Given the description of an element on the screen output the (x, y) to click on. 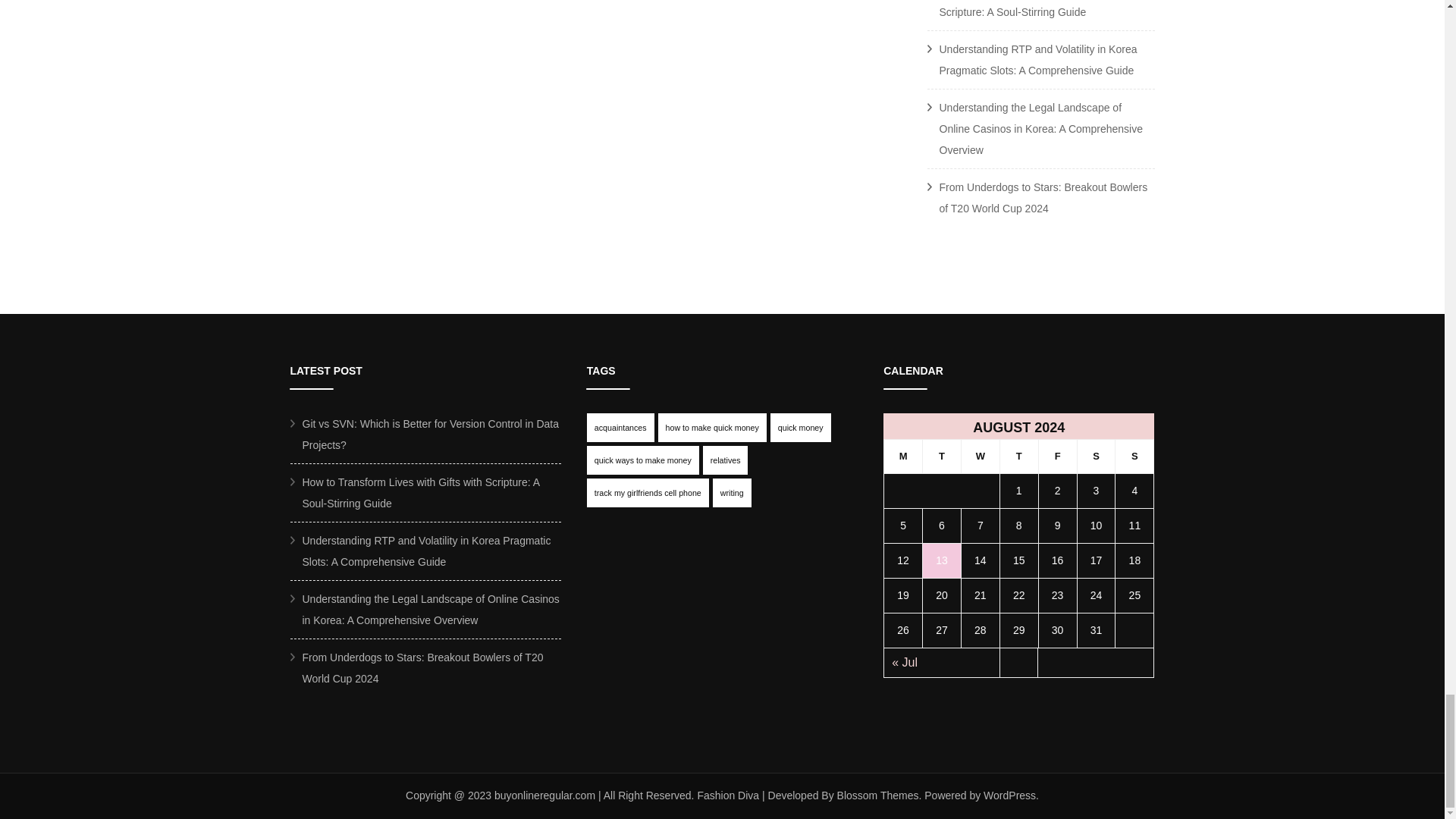
Friday (1057, 455)
Sunday (1134, 455)
Thursday (1018, 455)
Tuesday (941, 455)
Wednesday (979, 455)
Saturday (1096, 455)
Monday (903, 455)
